Given the description of an element on the screen output the (x, y) to click on. 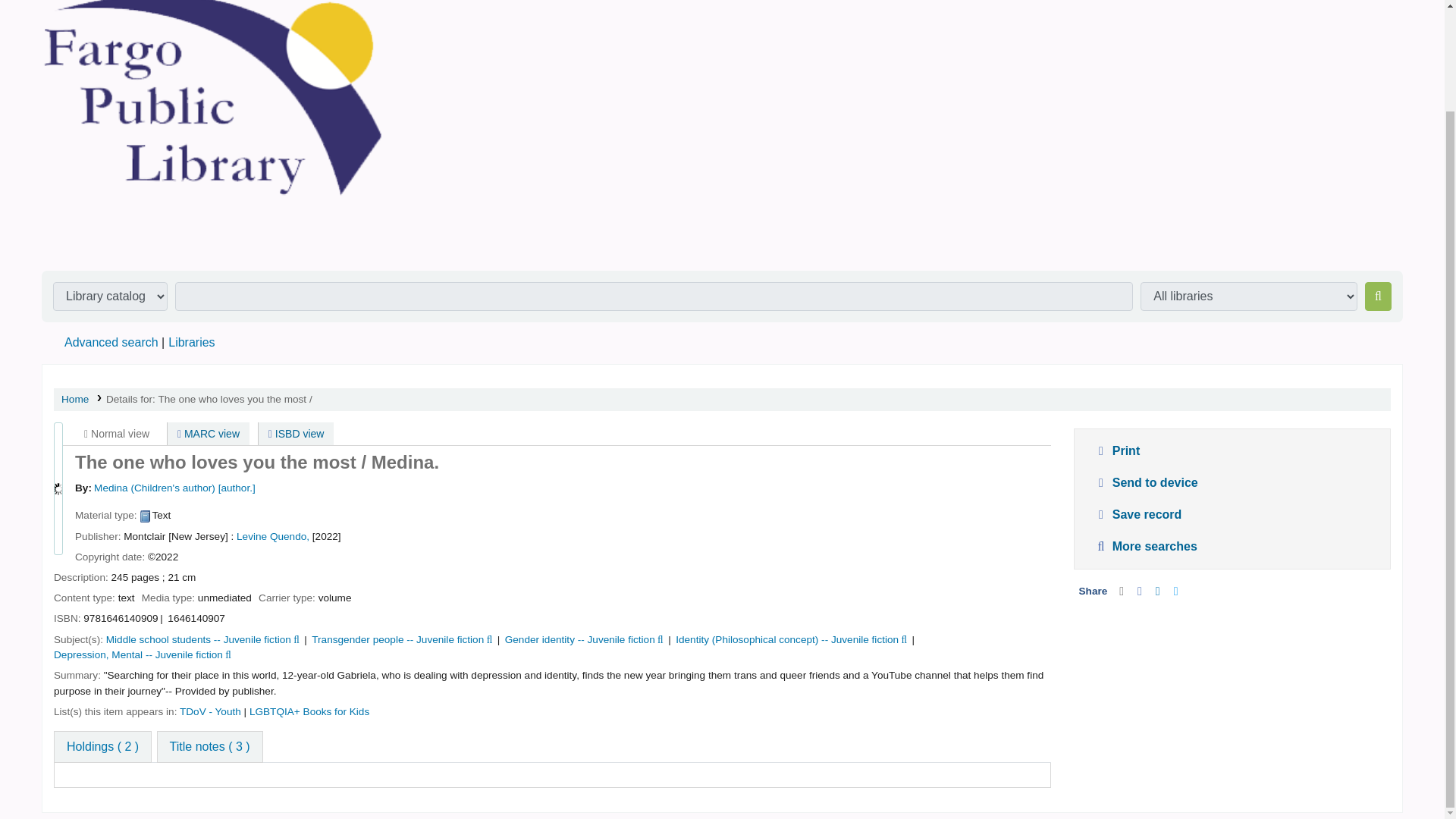
Gender identity -- Juvenile fiction (580, 639)
Search (1378, 296)
Levine Quendo, (271, 536)
Transgender people -- Juvenile fiction (397, 639)
Libraries (191, 341)
ISBD view (296, 433)
Middle school students -- Juvenile fiction (198, 639)
MARC view (207, 433)
Advanced search (111, 341)
Home (74, 398)
